Given the description of an element on the screen output the (x, y) to click on. 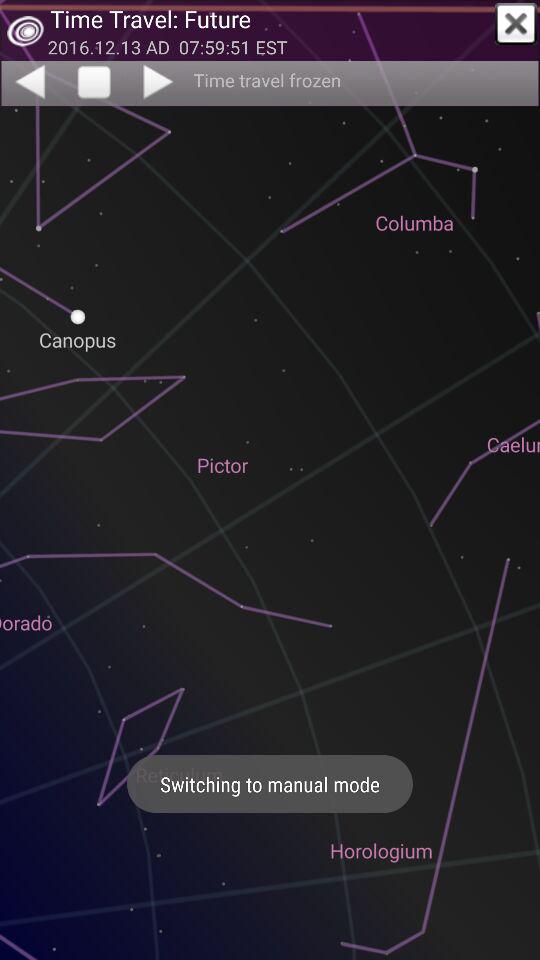
freeze (94, 83)
